Given the description of an element on the screen output the (x, y) to click on. 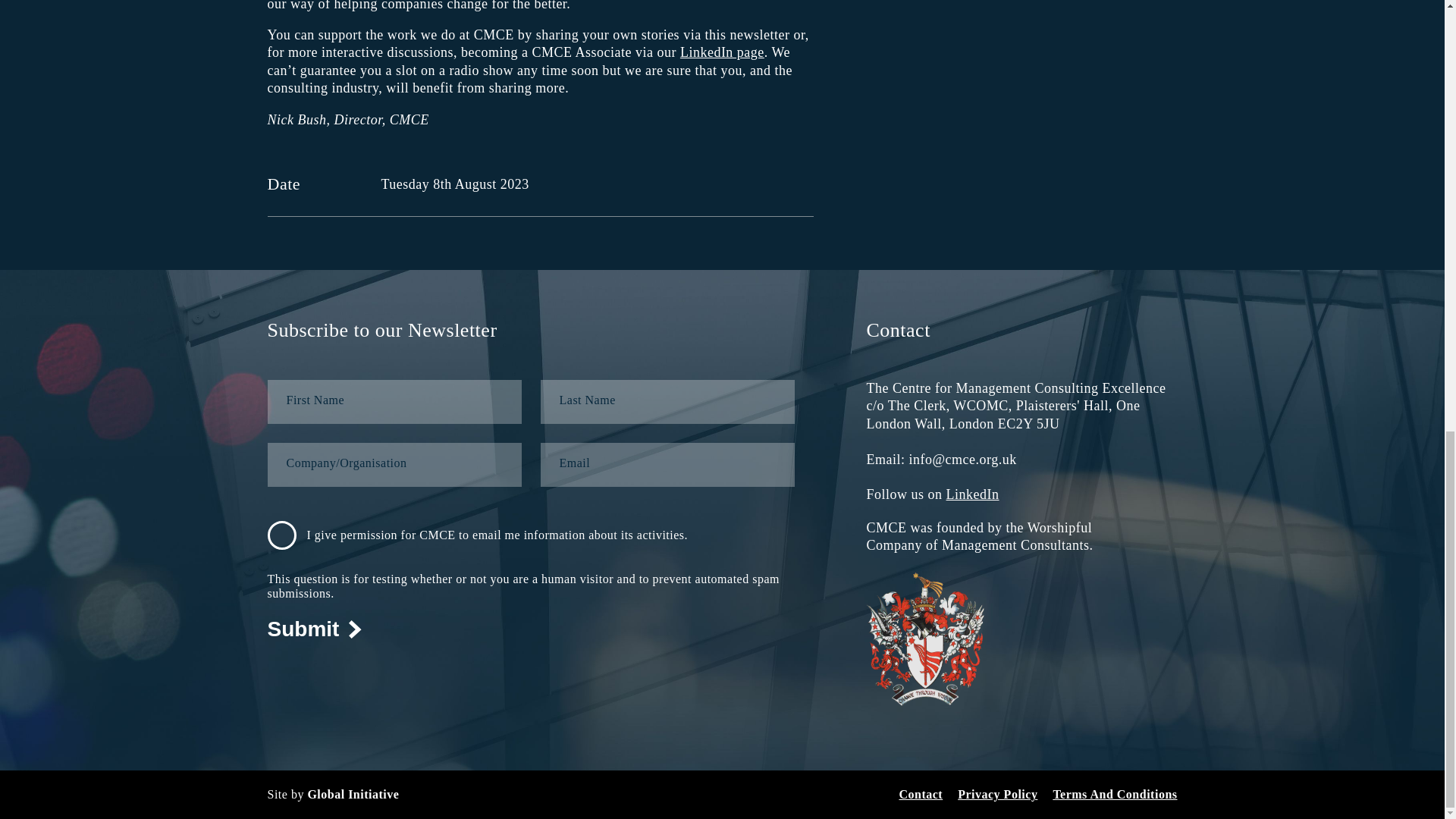
LinkedIn page (721, 52)
LinkedIn (972, 494)
Global Initiative (352, 793)
Contact (920, 794)
Privacy Policy (997, 794)
Submit (313, 629)
Submit (313, 629)
Terms And Conditions (1114, 794)
